Given the description of an element on the screen output the (x, y) to click on. 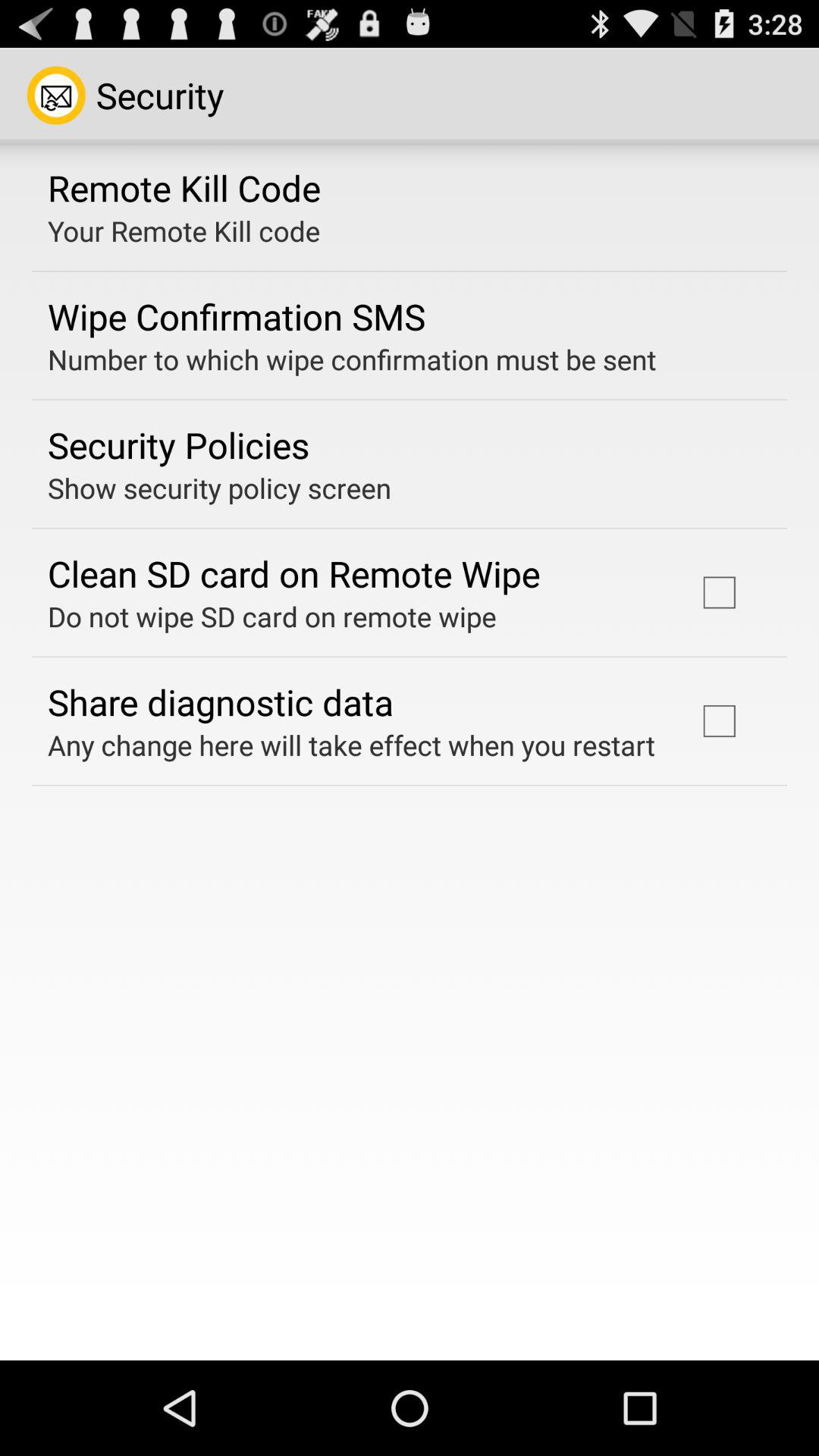
select item below the number to which app (178, 444)
